Given the description of an element on the screen output the (x, y) to click on. 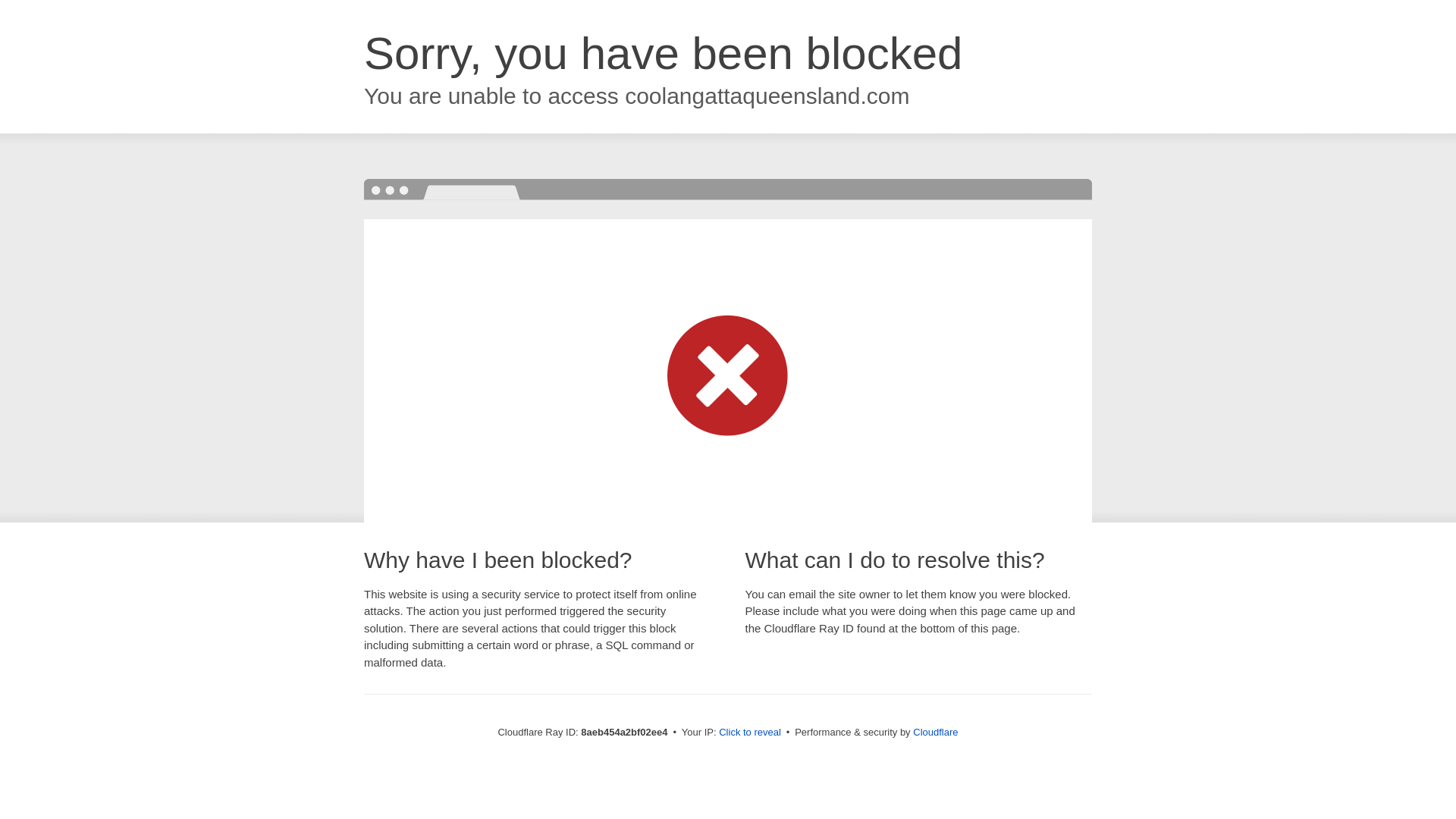
Click to reveal (749, 732)
Cloudflare (935, 731)
